Given the description of an element on the screen output the (x, y) to click on. 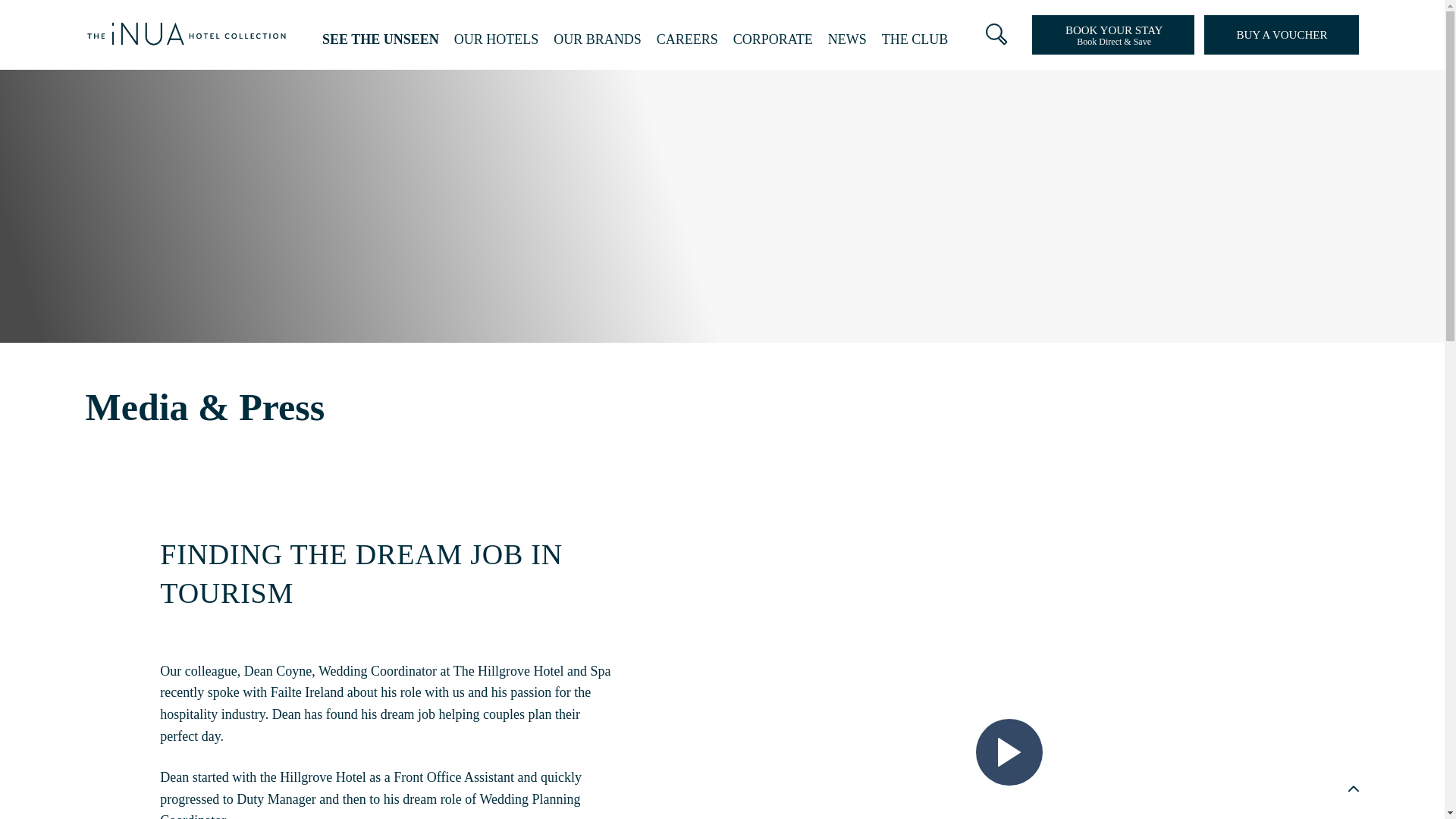
CAREERS (686, 38)
CORPORATE (772, 38)
OUR BRANDS (597, 38)
OUR HOTELS (496, 38)
SEE THE UNSEEN (380, 38)
